Given the description of an element on the screen output the (x, y) to click on. 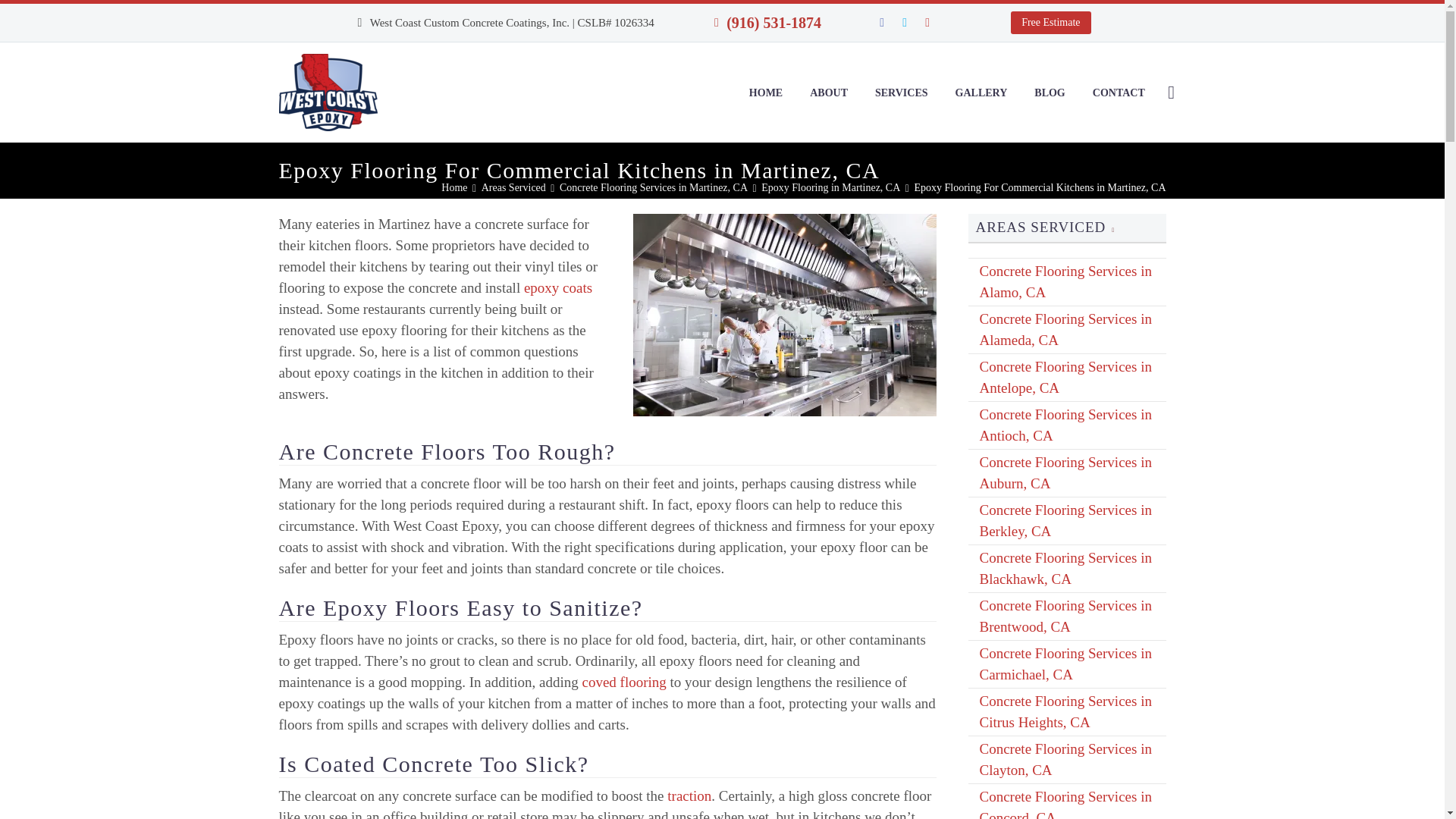
ABOUT (828, 92)
Yelp (927, 22)
SERVICES (901, 92)
Facebook (881, 22)
Twitter (904, 22)
HOME (765, 92)
YouTube (949, 22)
GALLERY (981, 92)
Free Estimate (1050, 22)
